Given the description of an element on the screen output the (x, y) to click on. 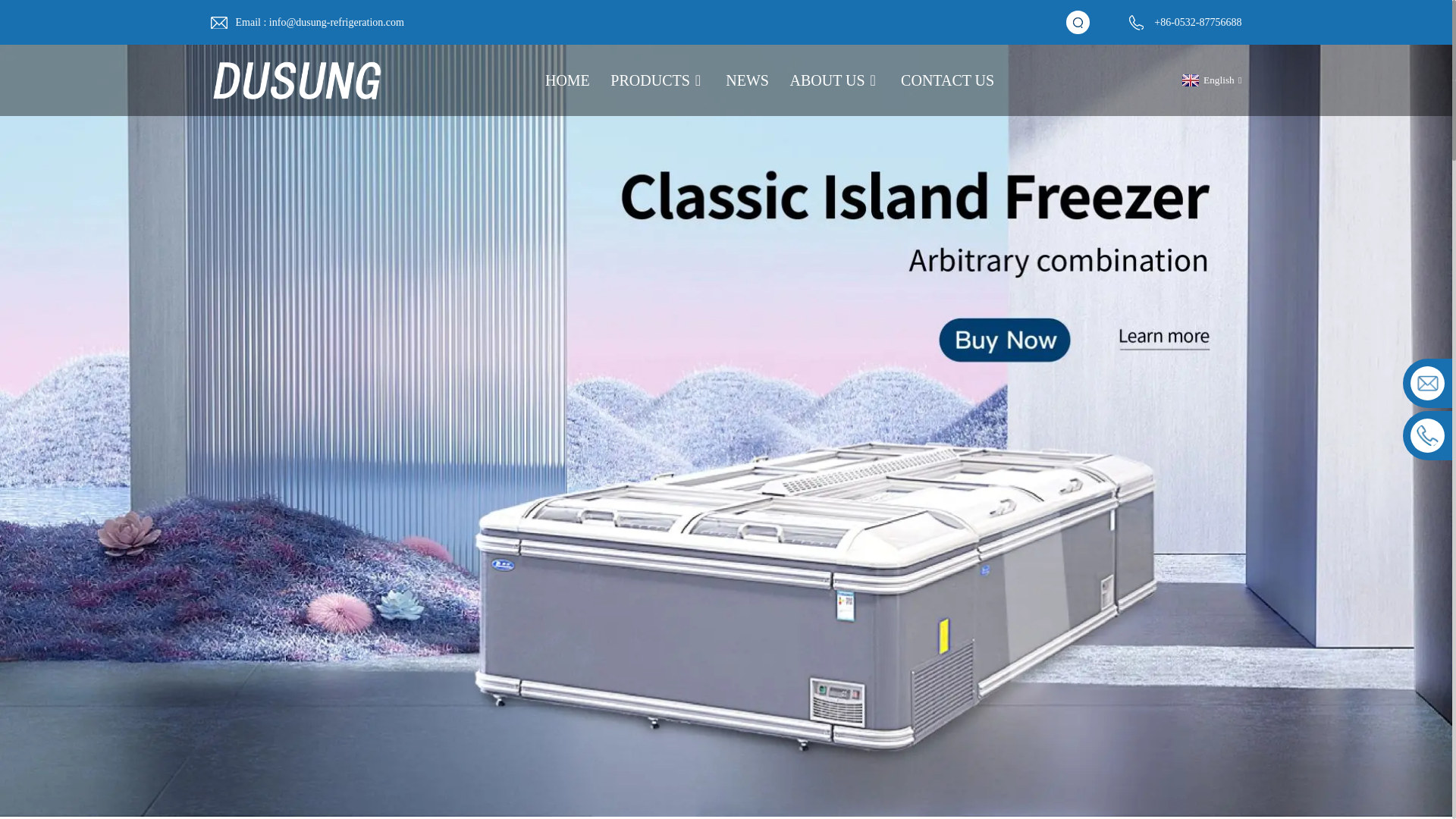
PRODUCTS (657, 80)
ABOUT US (835, 80)
CONTACT US (947, 80)
English (1209, 79)
English (1209, 79)
